Given the description of an element on the screen output the (x, y) to click on. 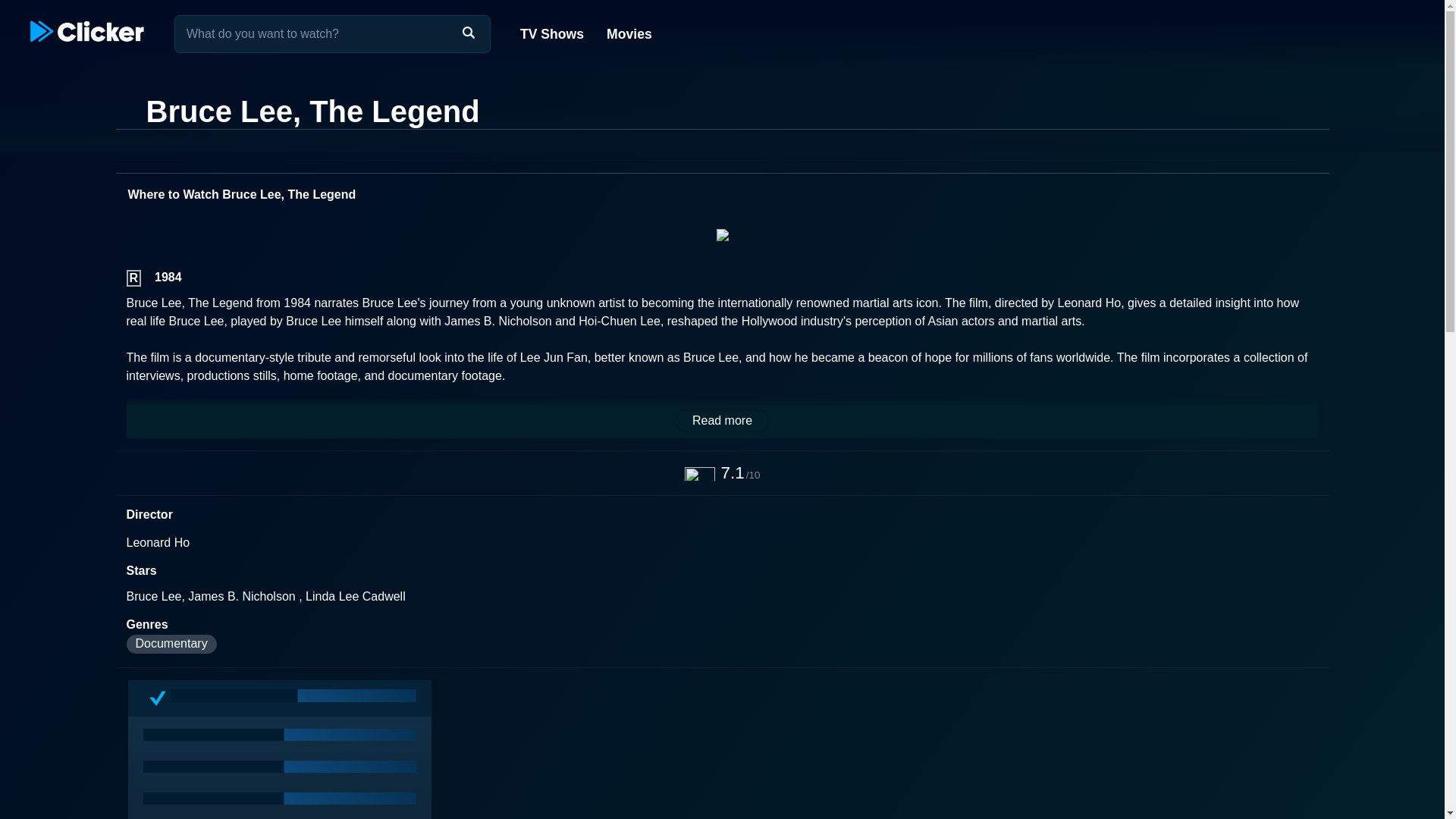
Read more (722, 420)
Documentary (170, 643)
Movies (628, 33)
TV Shows (551, 33)
